Given the description of an element on the screen output the (x, y) to click on. 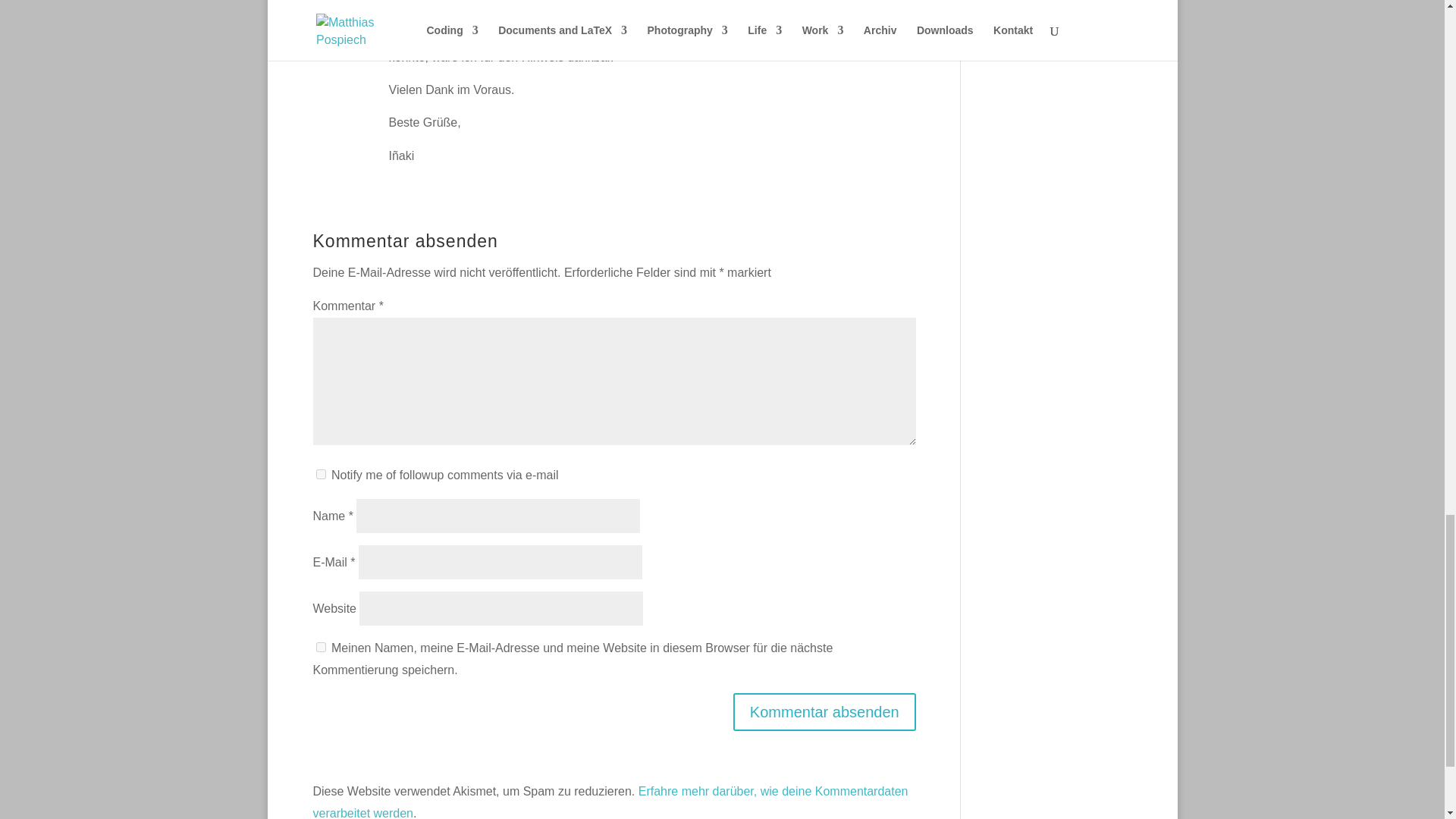
subscribe (319, 474)
yes (319, 646)
Kommentar absenden (824, 711)
